Given the description of an element on the screen output the (x, y) to click on. 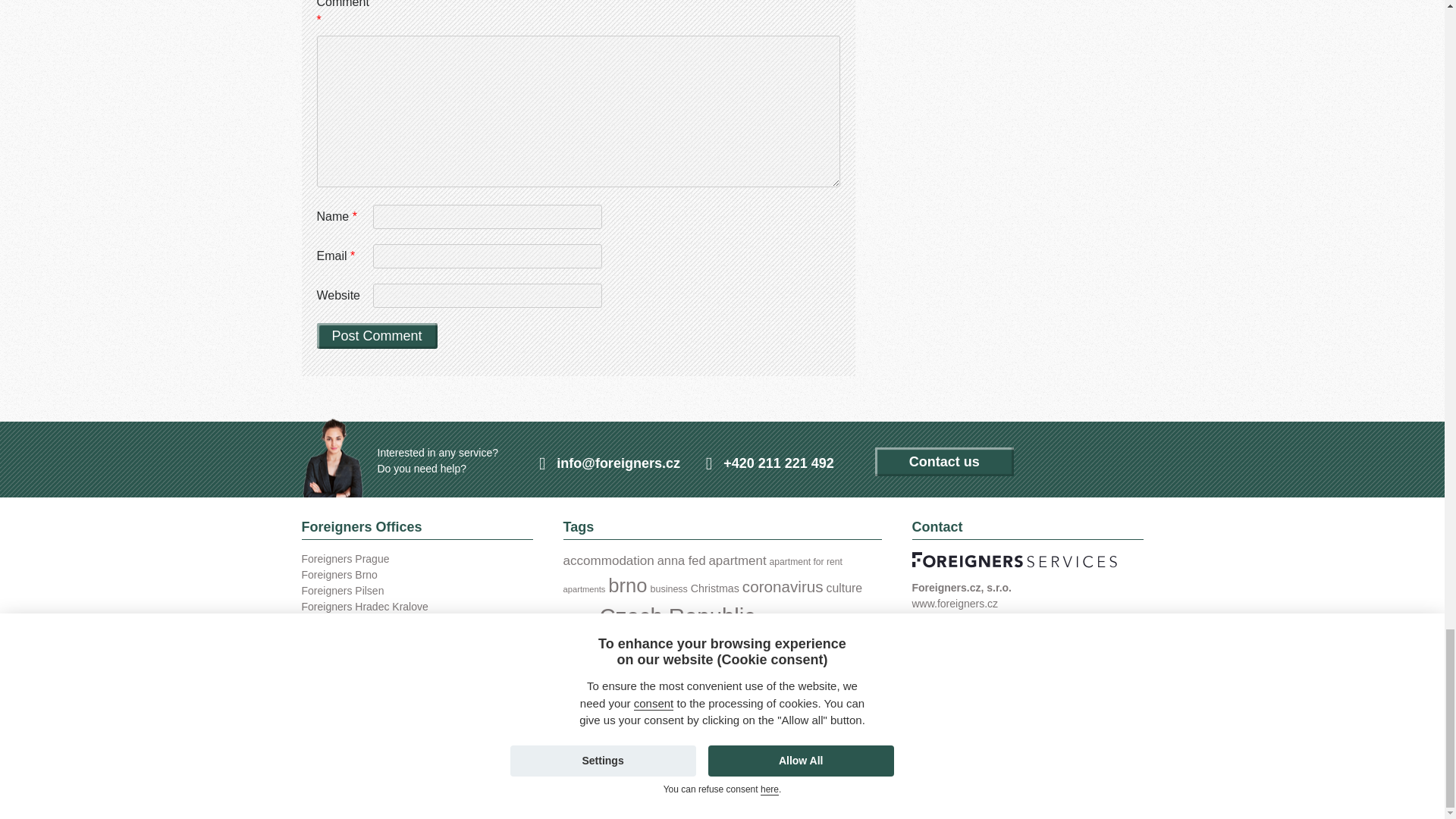
Post Comment (377, 335)
